Given the description of an element on the screen output the (x, y) to click on. 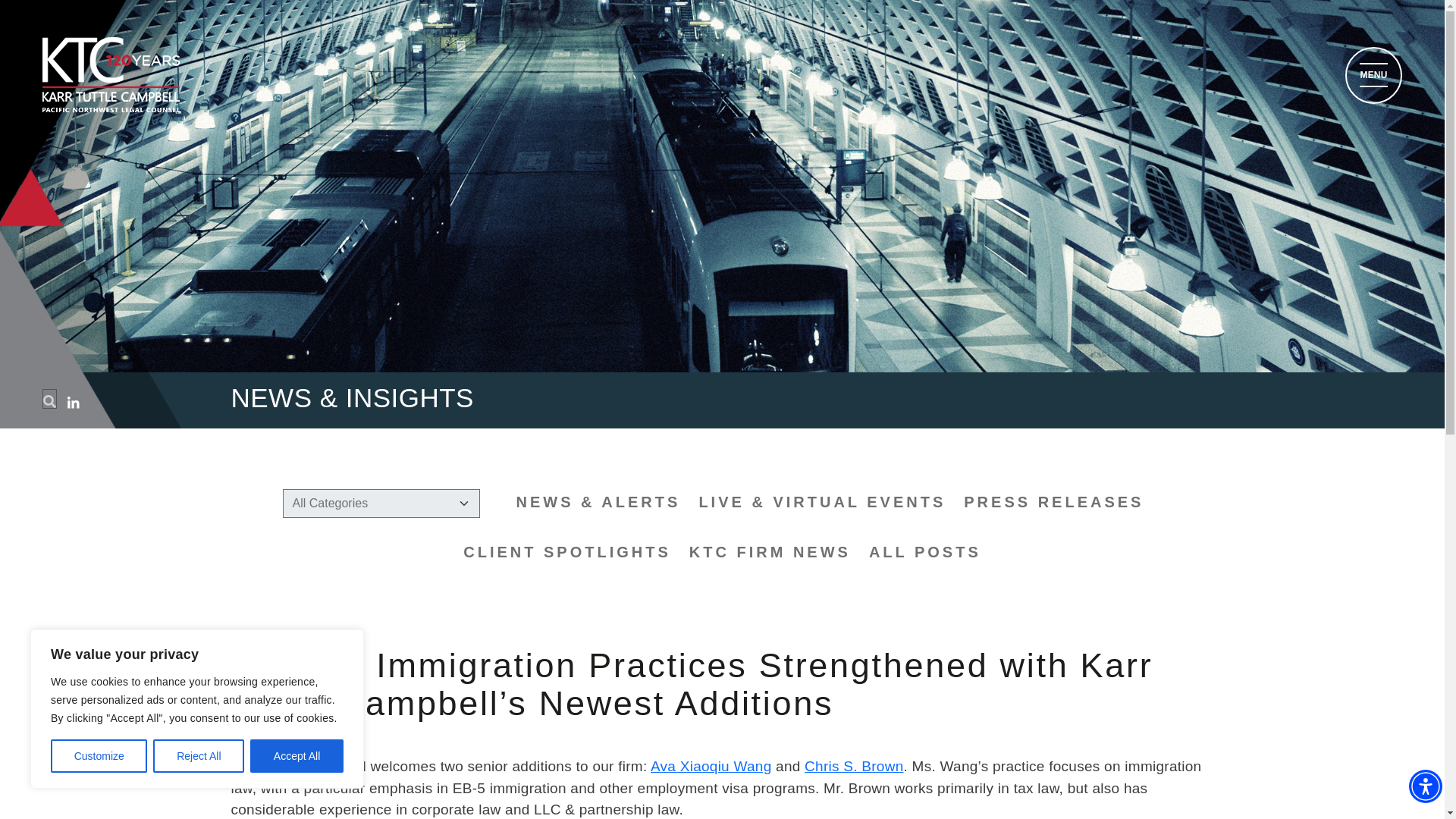
Accept All (296, 756)
Customize (98, 756)
MENU (1373, 75)
Accessibility Menu (1425, 786)
Reject All (198, 756)
